Given the description of an element on the screen output the (x, y) to click on. 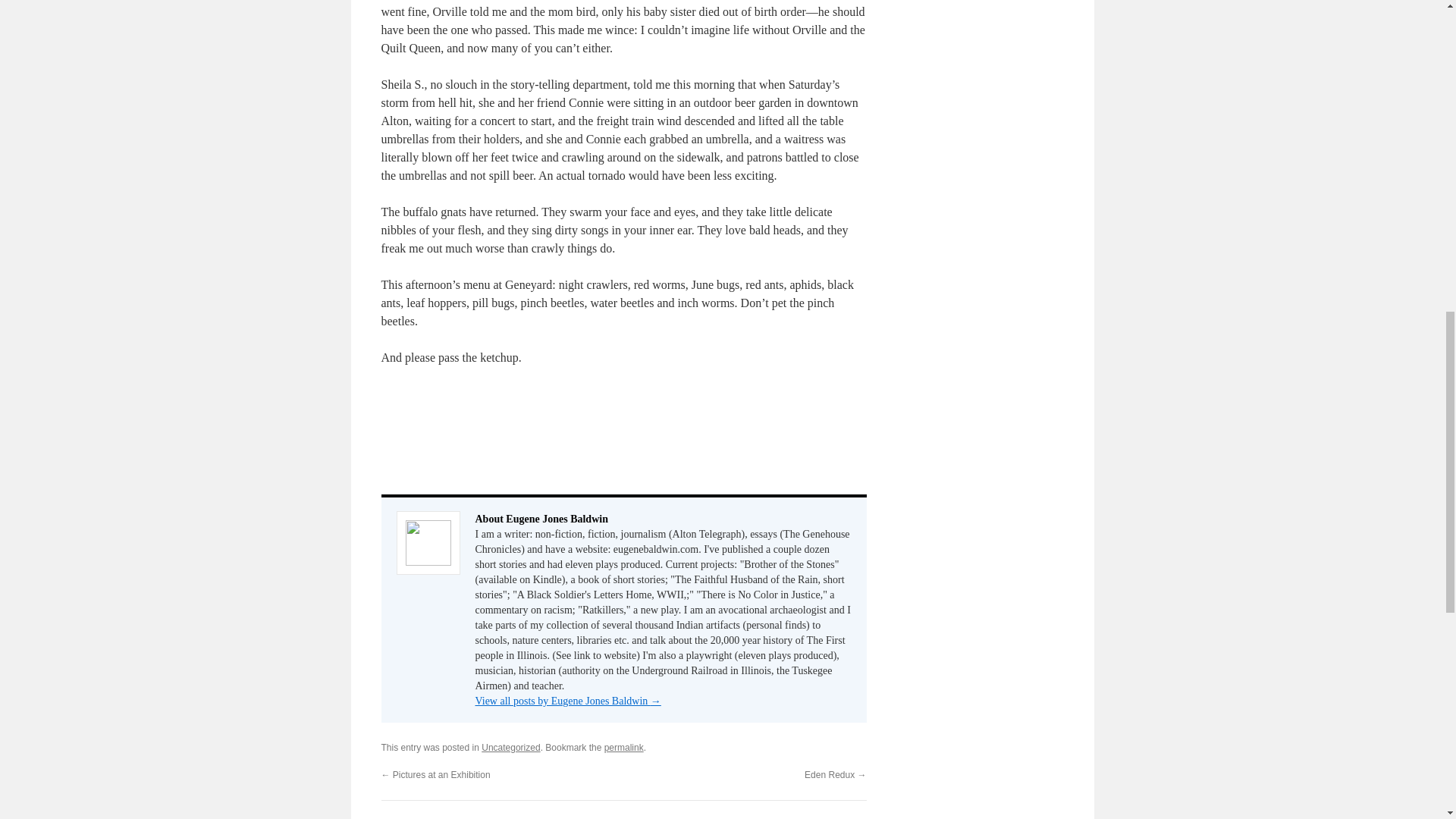
Uncategorized (510, 747)
Permalink to Crawly Things (623, 747)
permalink (623, 747)
